Given the description of an element on the screen output the (x, y) to click on. 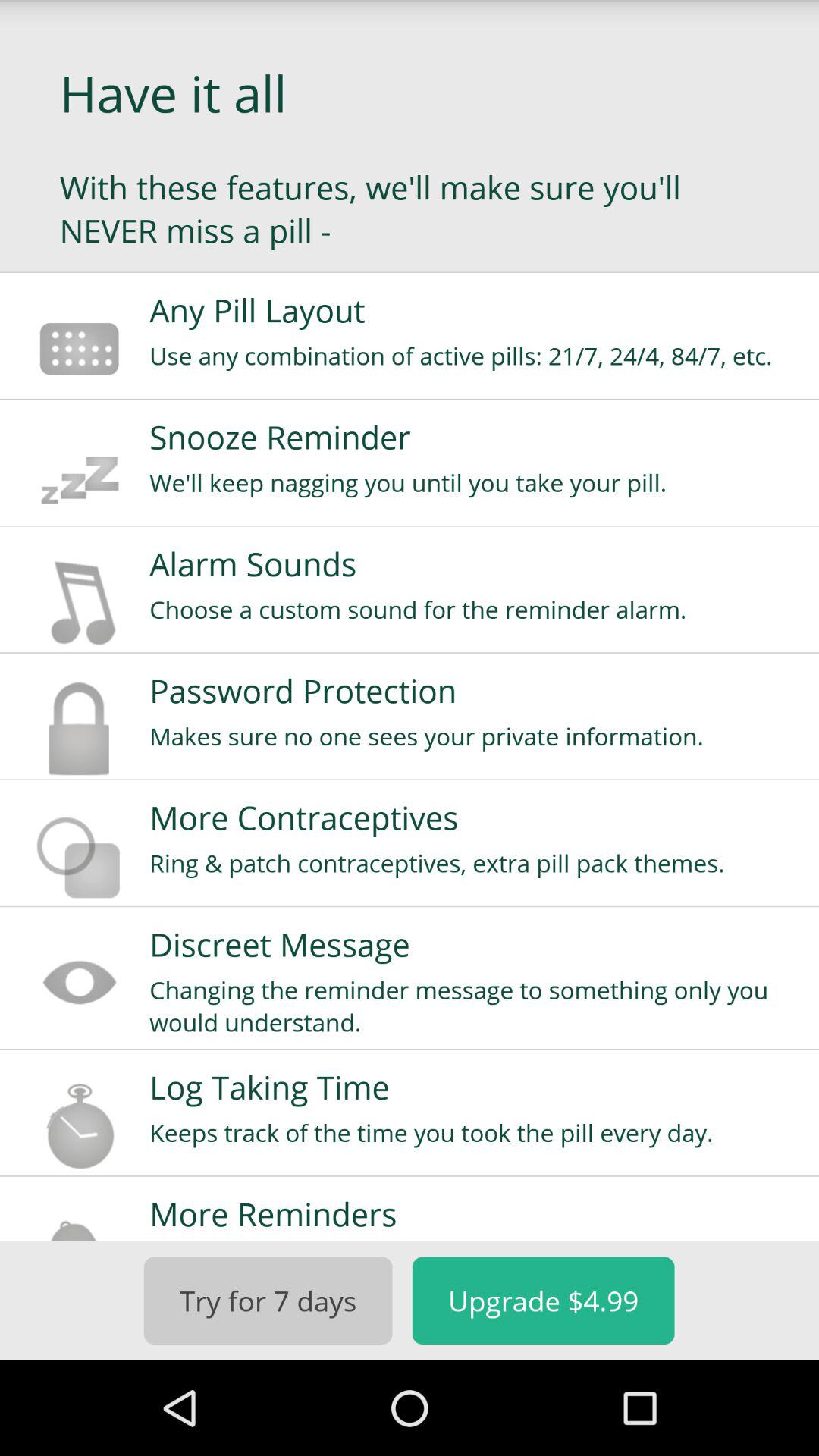
select the discreet message (474, 944)
